Given the description of an element on the screen output the (x, y) to click on. 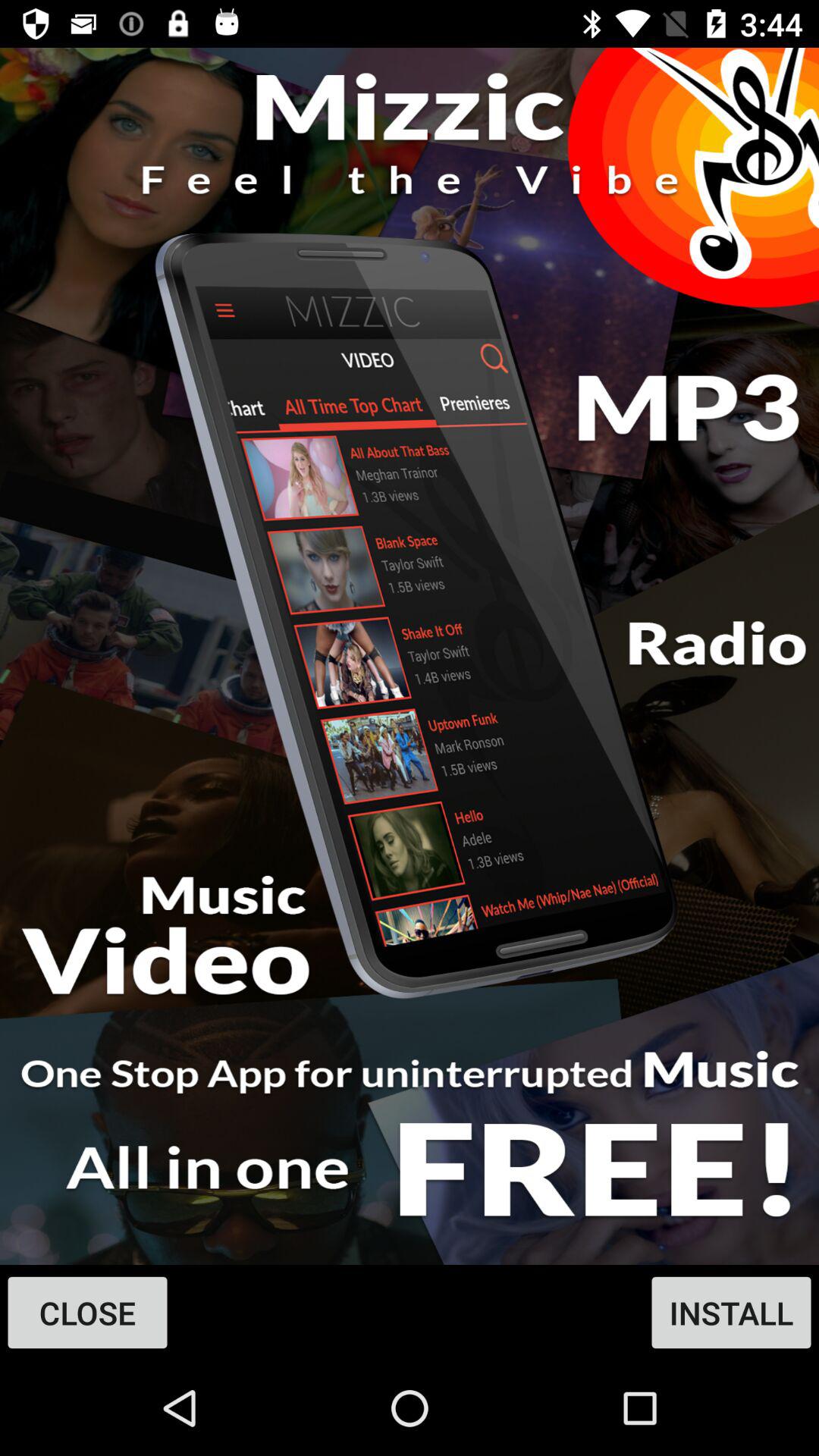
click to install (409, 655)
